Given the description of an element on the screen output the (x, y) to click on. 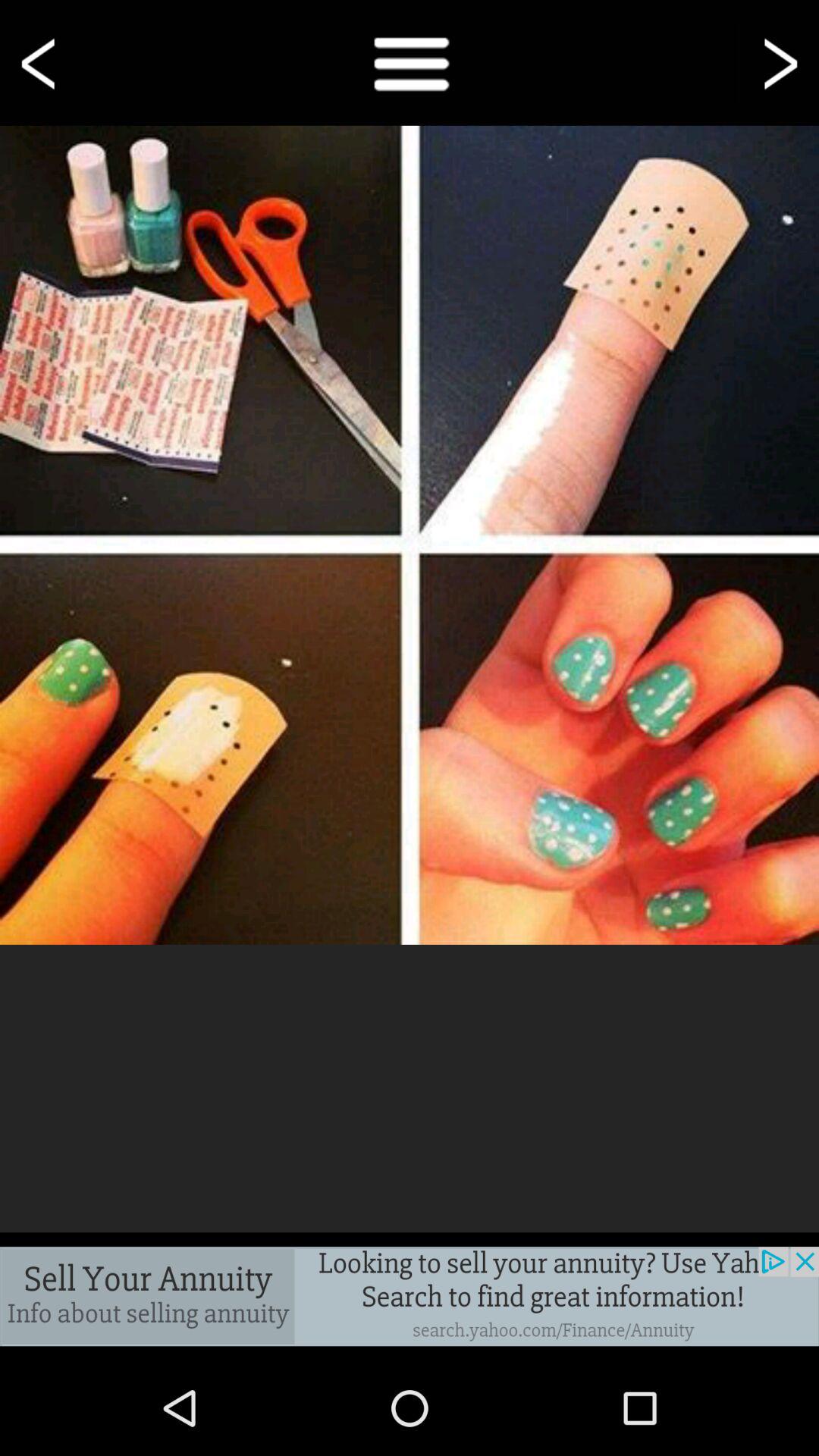
go back (40, 62)
